Given the description of an element on the screen output the (x, y) to click on. 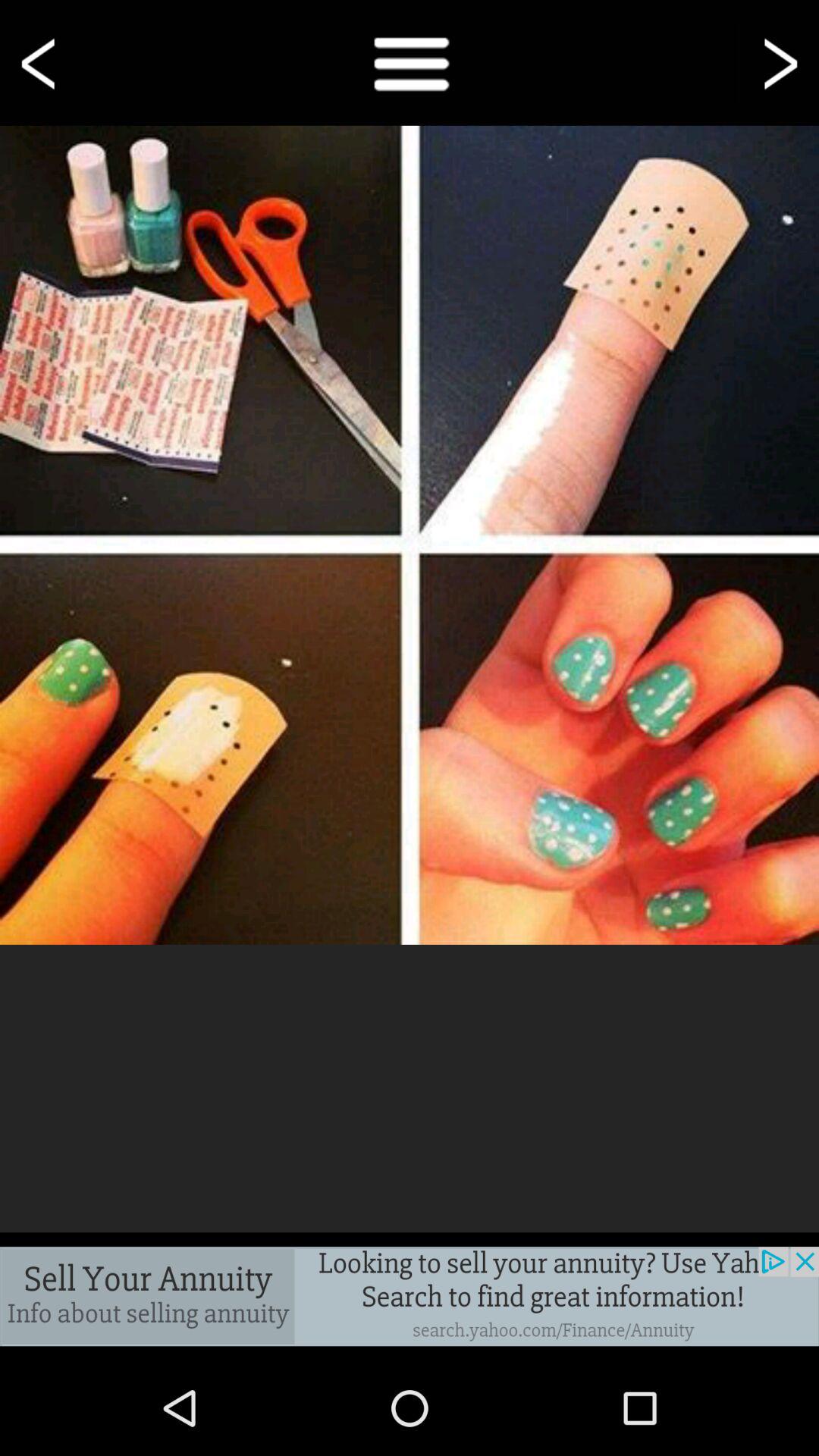
go back (40, 62)
